Given the description of an element on the screen output the (x, y) to click on. 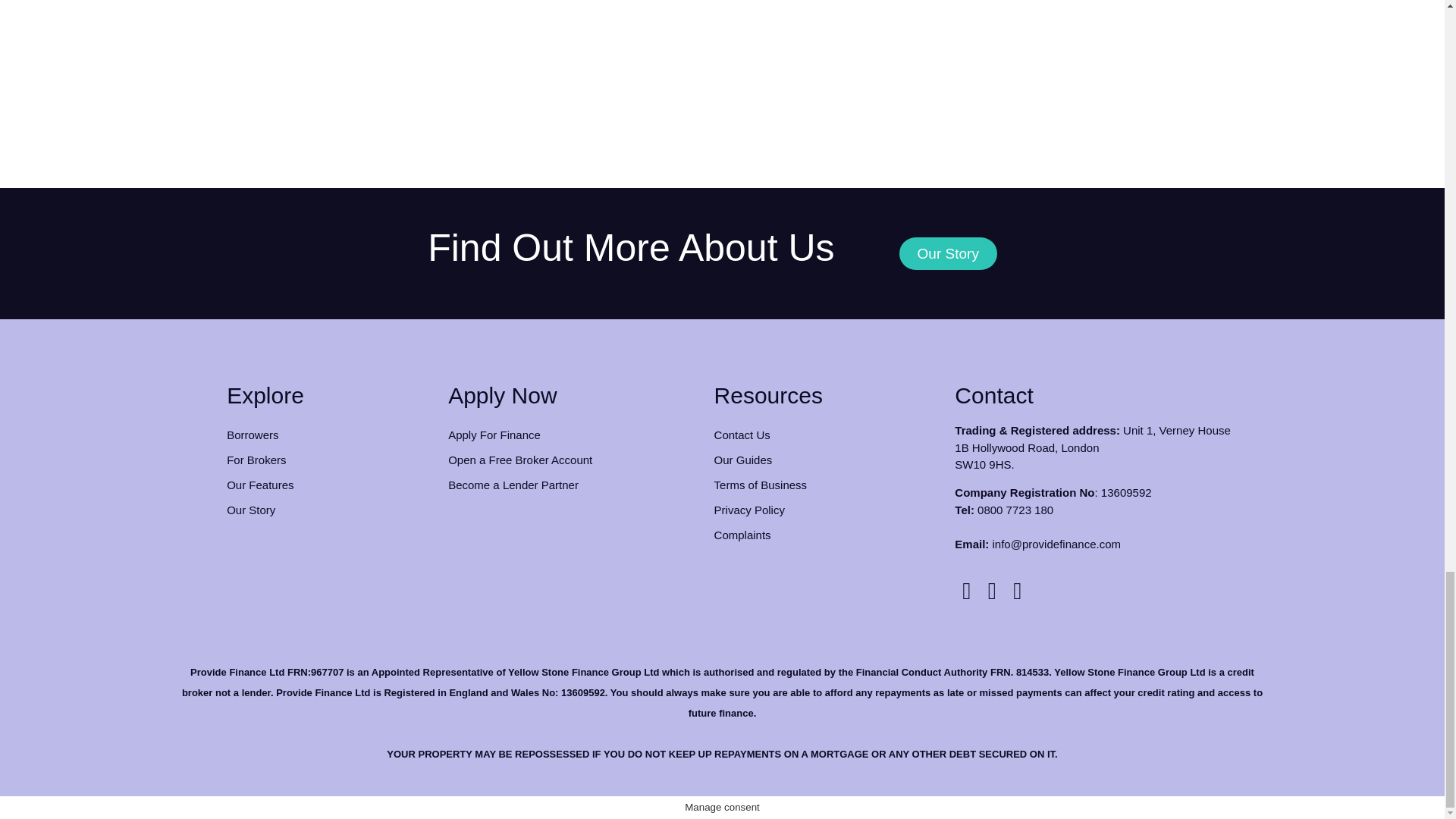
Borrowers (329, 434)
Our Story (329, 509)
Our Features (329, 484)
For Brokers (329, 459)
Our Story (948, 253)
